Given the description of an element on the screen output the (x, y) to click on. 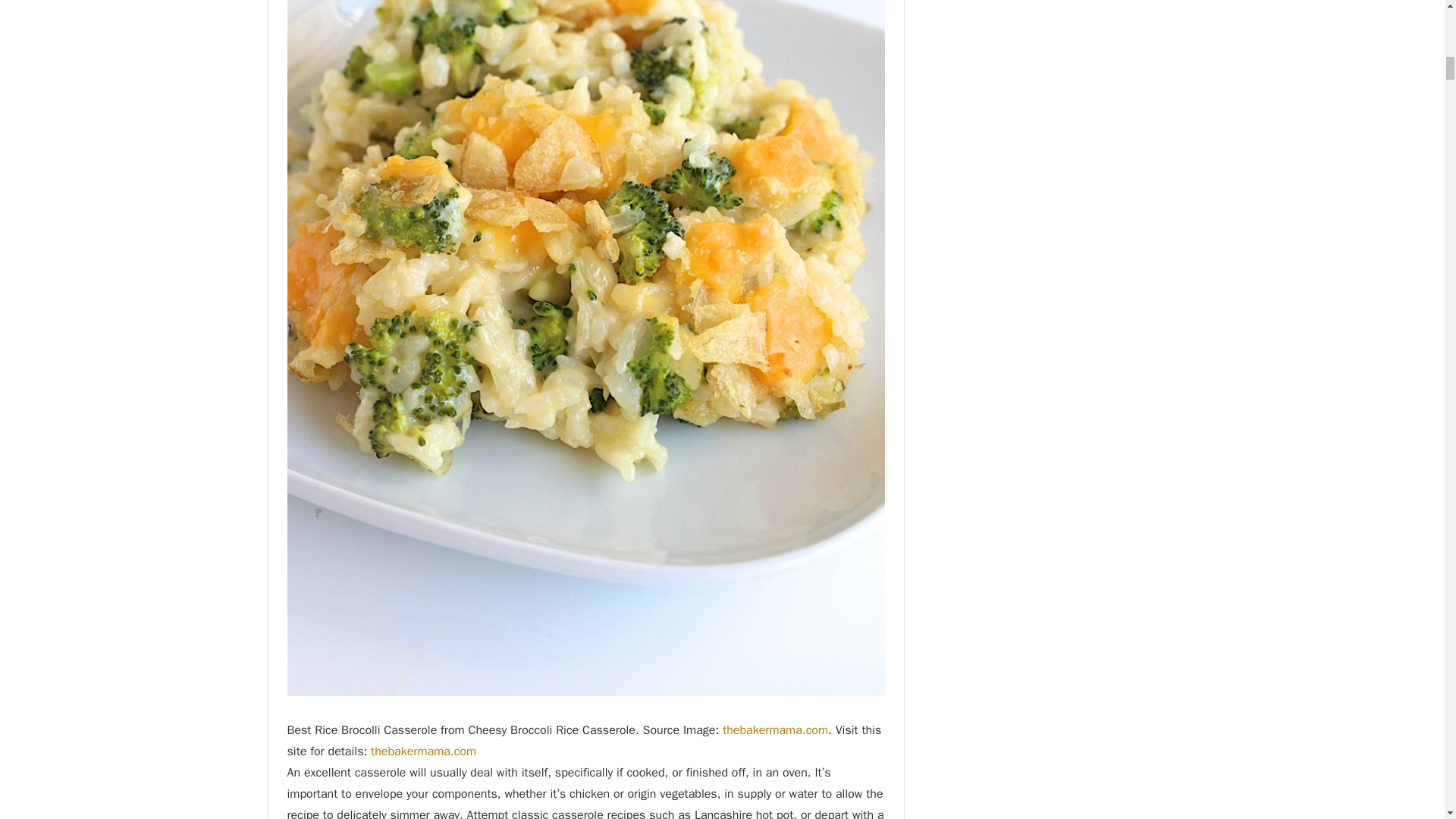
thebakermama.com (775, 729)
thebakermama.com (423, 751)
